Given the description of an element on the screen output the (x, y) to click on. 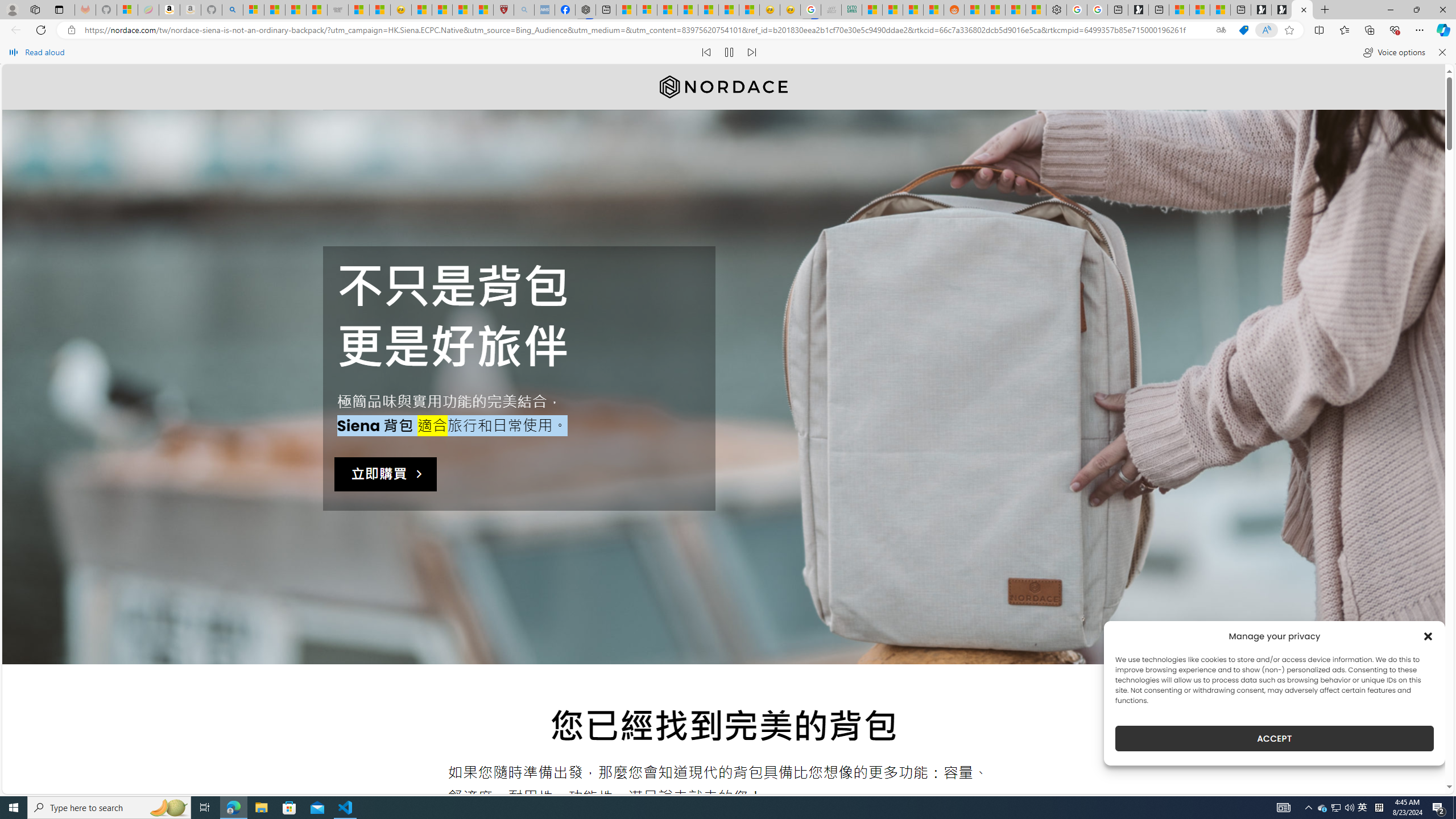
This site has coupons! Shopping in Microsoft Edge (1243, 29)
Microsoft-Report a Concern to Bing (127, 9)
Show translate options (1220, 29)
Robert H. Shmerling, MD - Harvard Health (503, 9)
Pause read aloud (Ctrl+Shift+U) (729, 52)
